Given the description of an element on the screen output the (x, y) to click on. 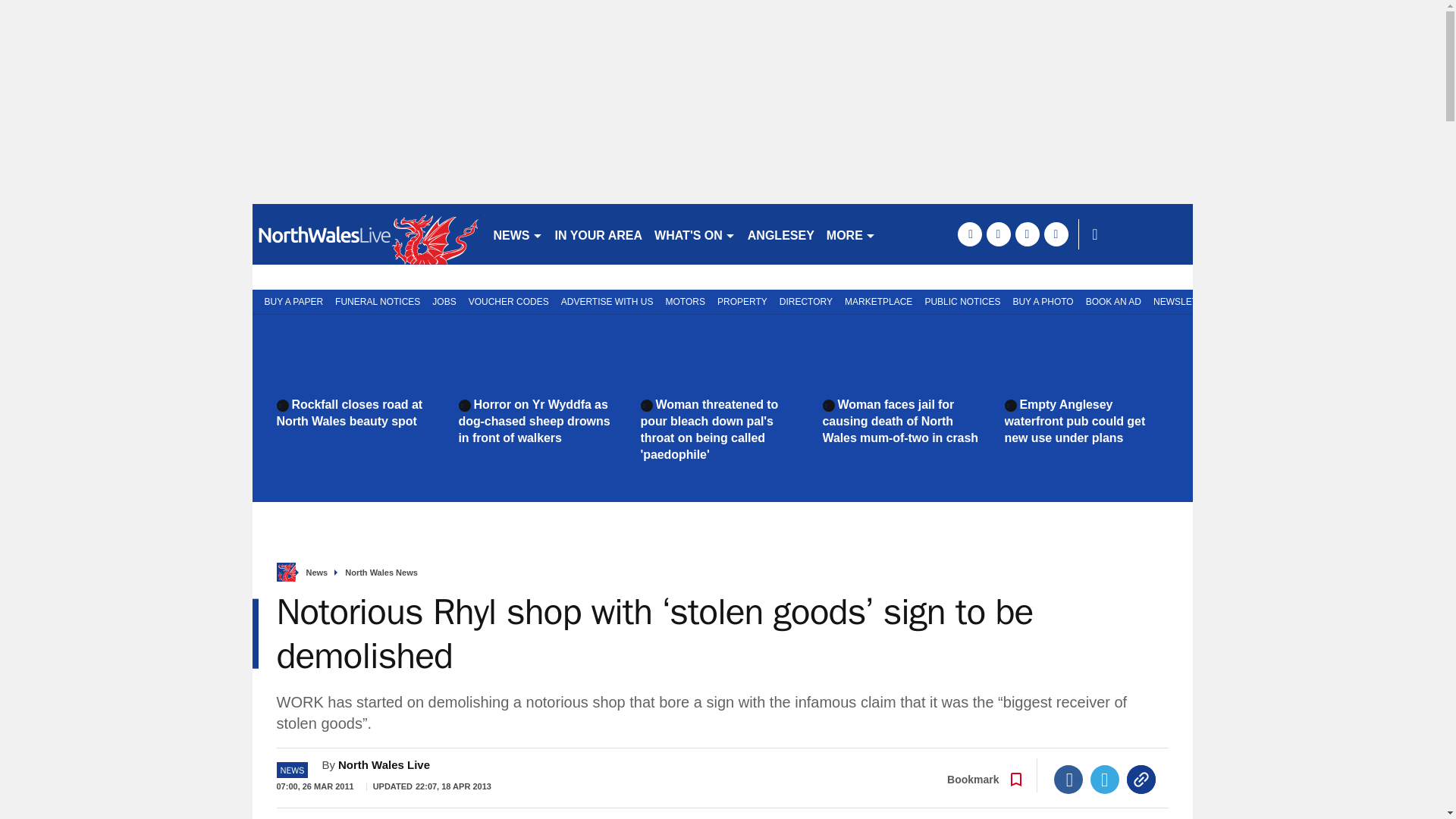
MOTORS (685, 300)
ADVERTISE WITH US (606, 300)
twitter (997, 233)
Twitter (1104, 778)
NEWS (517, 233)
PROPERTY (742, 300)
facebook (968, 233)
pinterest (1026, 233)
Facebook (1068, 778)
ANGLESEY (781, 233)
